Given the description of an element on the screen output the (x, y) to click on. 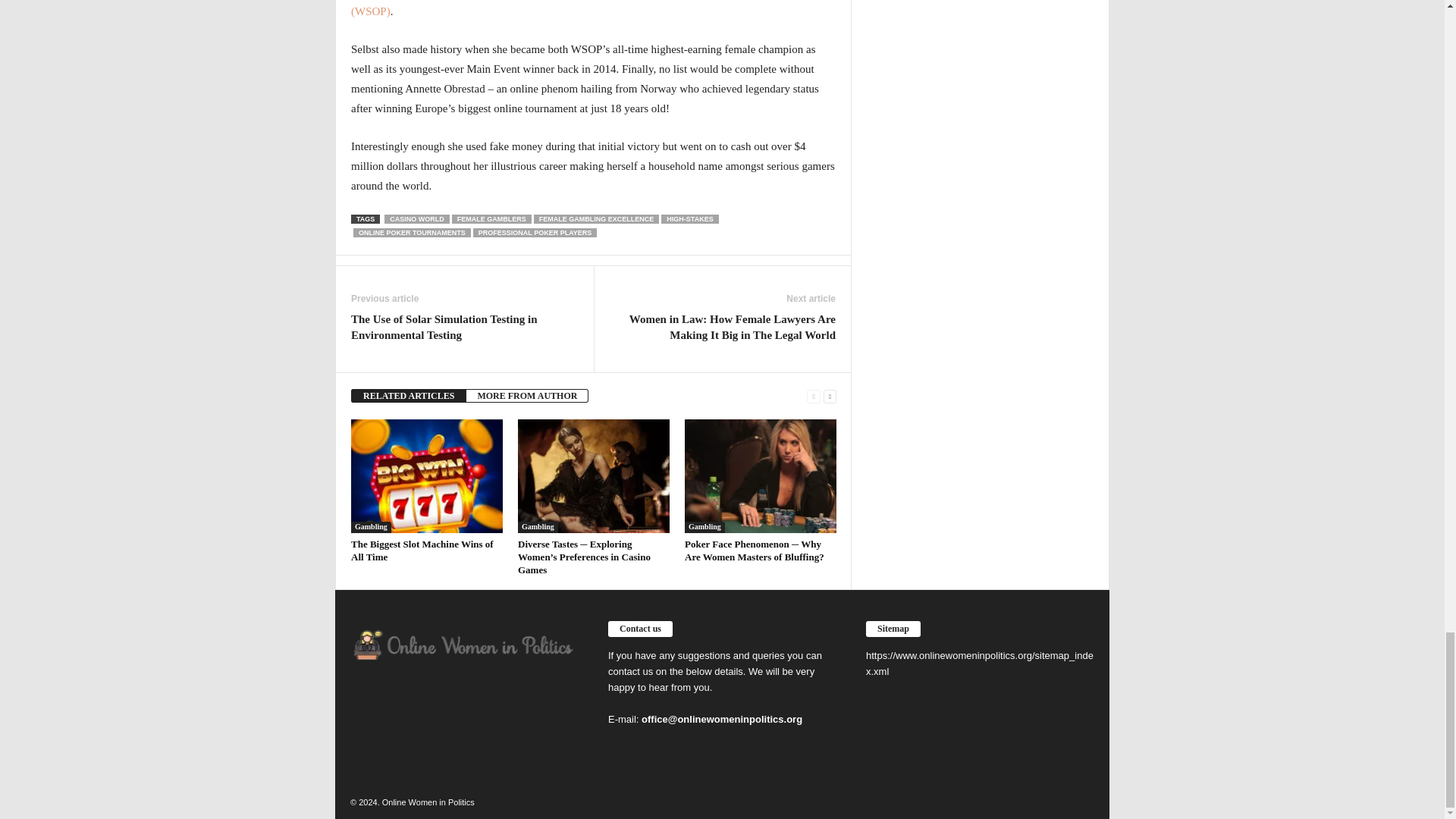
FEMALE GAMBLERS (491, 218)
PROFESSIONAL POKER PLAYERS (534, 232)
CASINO WORLD (416, 218)
FEMALE GAMBLING EXCELLENCE (596, 218)
The Use of Solar Simulation Testing in Environmental Testing (464, 327)
The Biggest Slot Machine Wins of All Time (421, 550)
HIGH-STAKES (689, 218)
The Biggest Slot Machine Wins of All Time (426, 476)
ONLINE POKER TOURNAMENTS (411, 232)
